Given the description of an element on the screen output the (x, y) to click on. 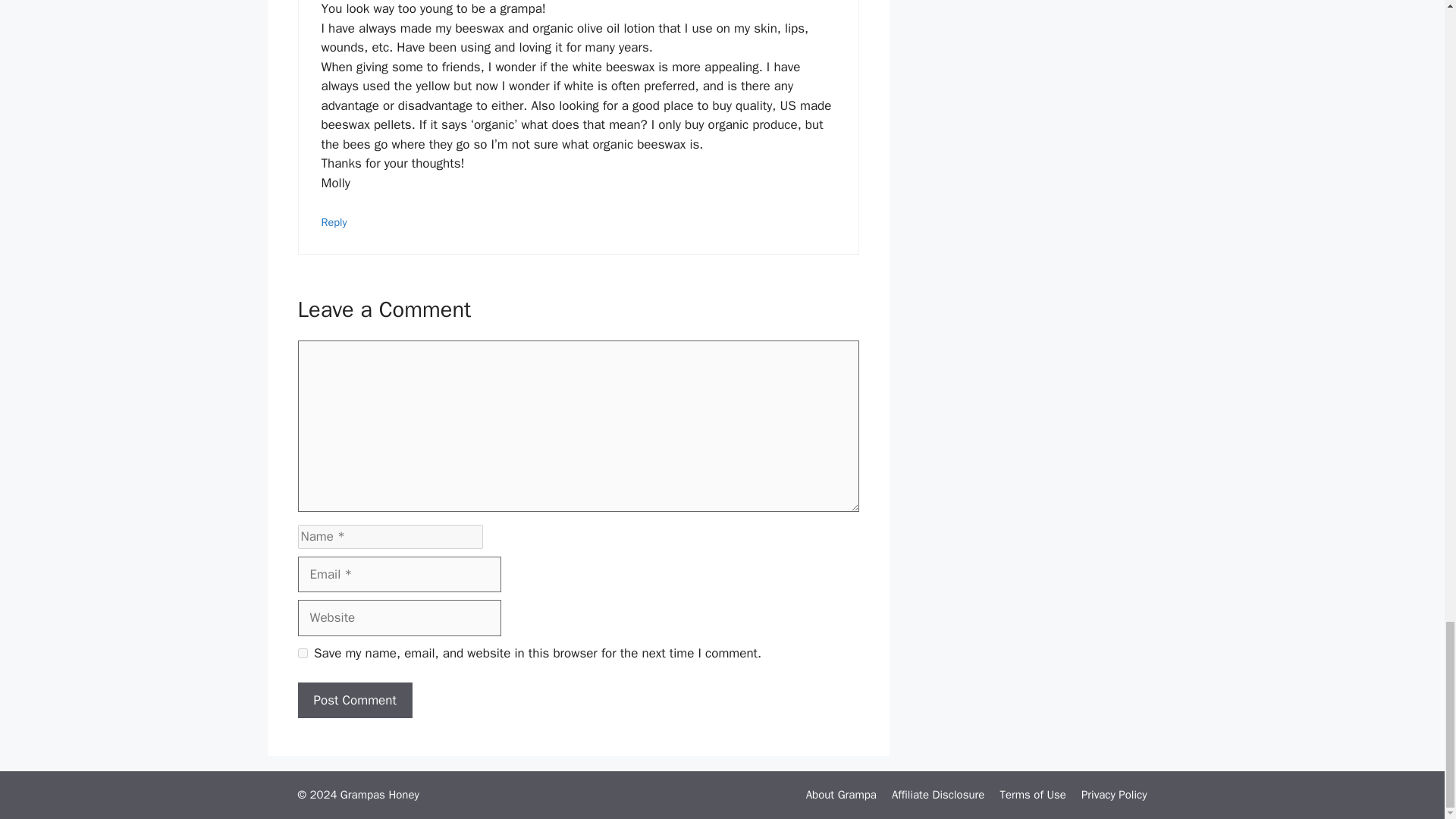
Affiliate Disclosure (938, 794)
About Grampa (841, 794)
Post Comment (354, 700)
Terms of Use (1031, 794)
yes (302, 653)
Privacy Policy (1114, 794)
Reply (334, 222)
Post Comment (354, 700)
